Given the description of an element on the screen output the (x, y) to click on. 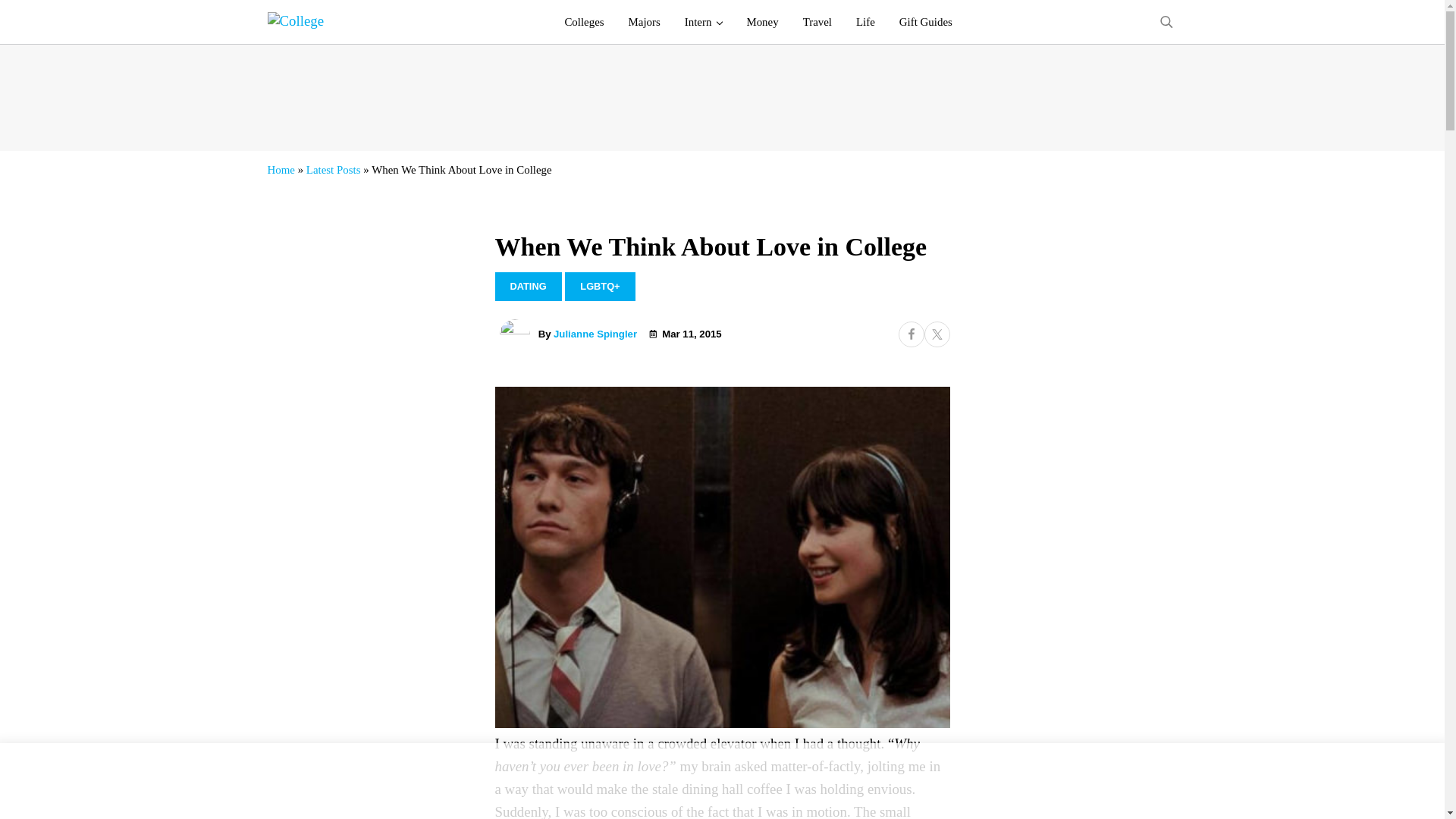
Money (761, 21)
Latest Posts (333, 169)
Gift Guides (924, 21)
Colleges (583, 21)
Home (280, 169)
Travel (817, 21)
Majors (643, 21)
Intern (703, 21)
DATING (527, 286)
